Given the description of an element on the screen output the (x, y) to click on. 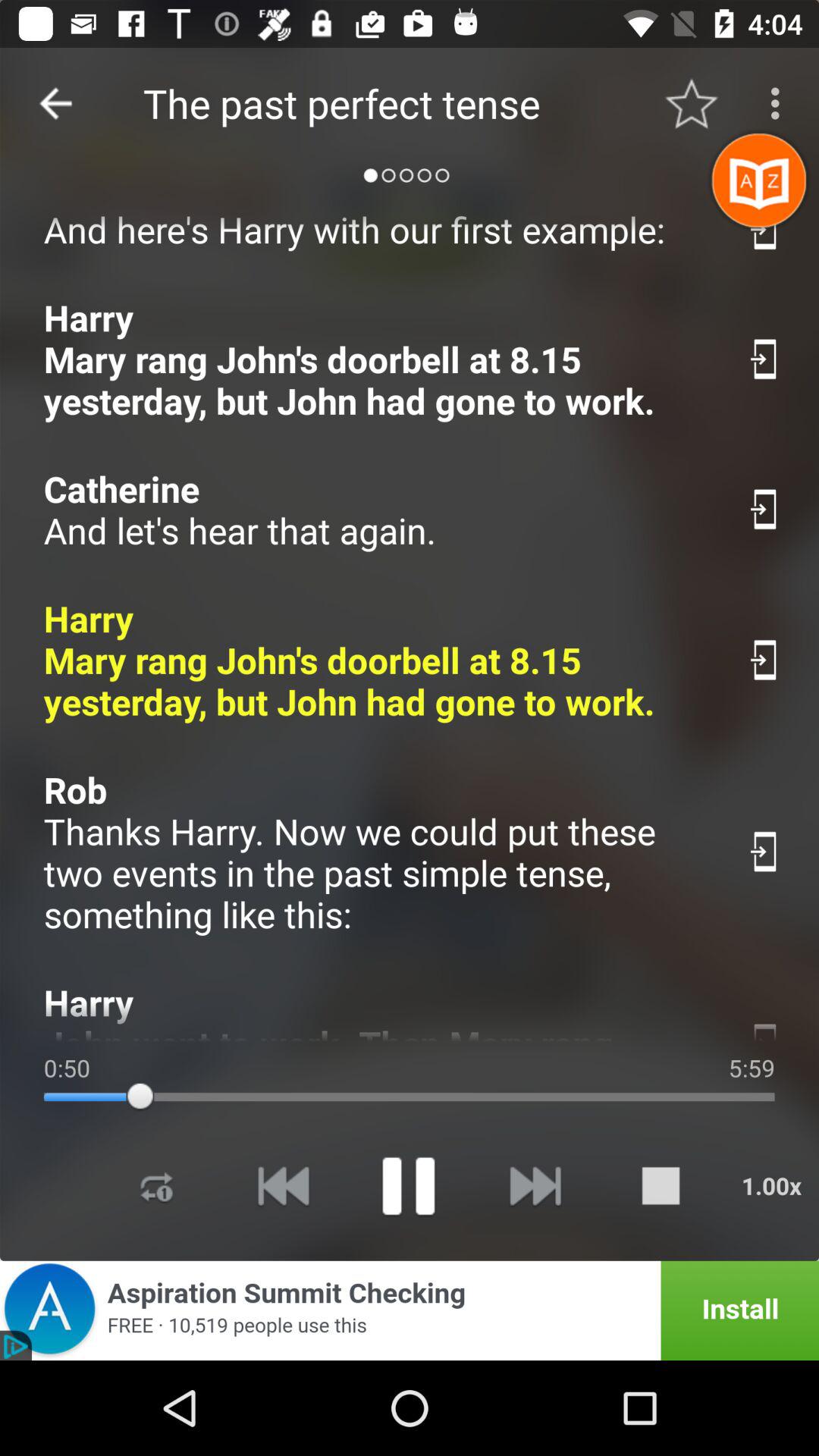
send to phone (765, 851)
